Given the description of an element on the screen output the (x, y) to click on. 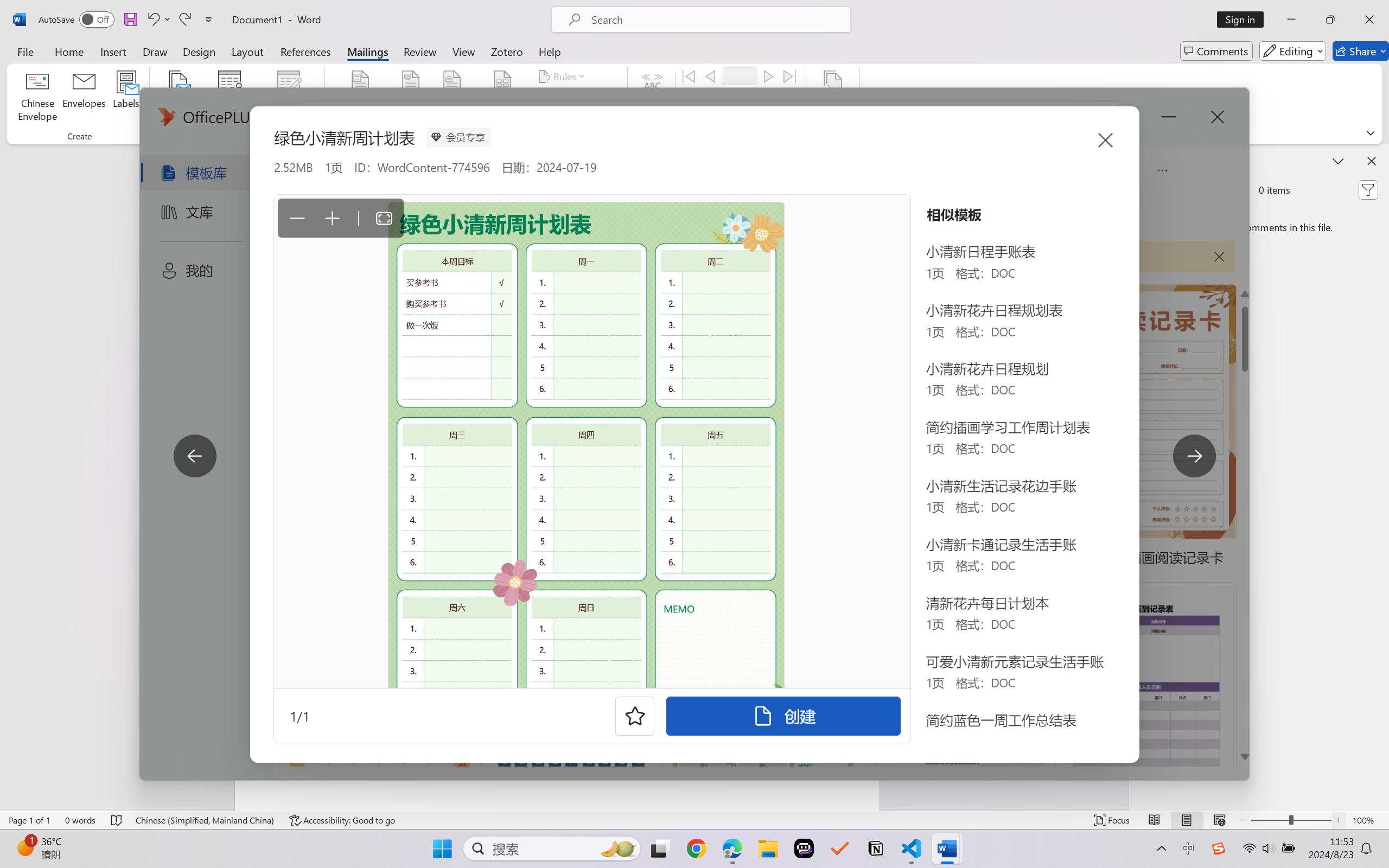
Editing (1292, 50)
Labels... (126, 97)
Highlight Merge Fields (360, 97)
Rules (563, 75)
Match Fields... (573, 97)
New comment (1165, 189)
Record (739, 76)
First (688, 75)
